Given the description of an element on the screen output the (x, y) to click on. 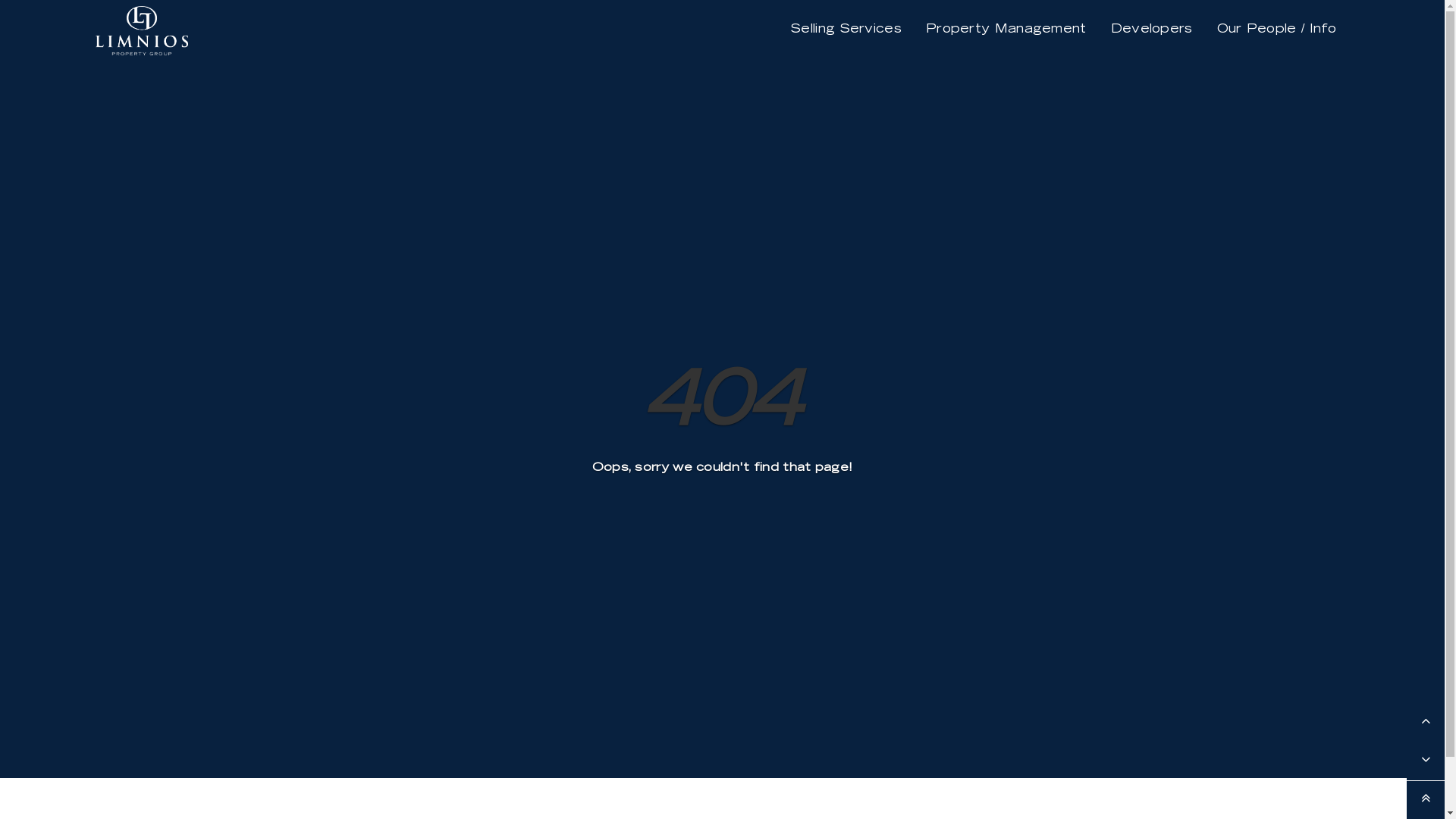
Property Management Element type: text (1005, 29)
Developers Element type: text (1151, 29)
Selling Services Element type: text (845, 29)
scroll up Element type: hover (1425, 722)
Our People / Info Element type: text (1276, 29)
scroll down Element type: hover (1425, 761)
